Given the description of an element on the screen output the (x, y) to click on. 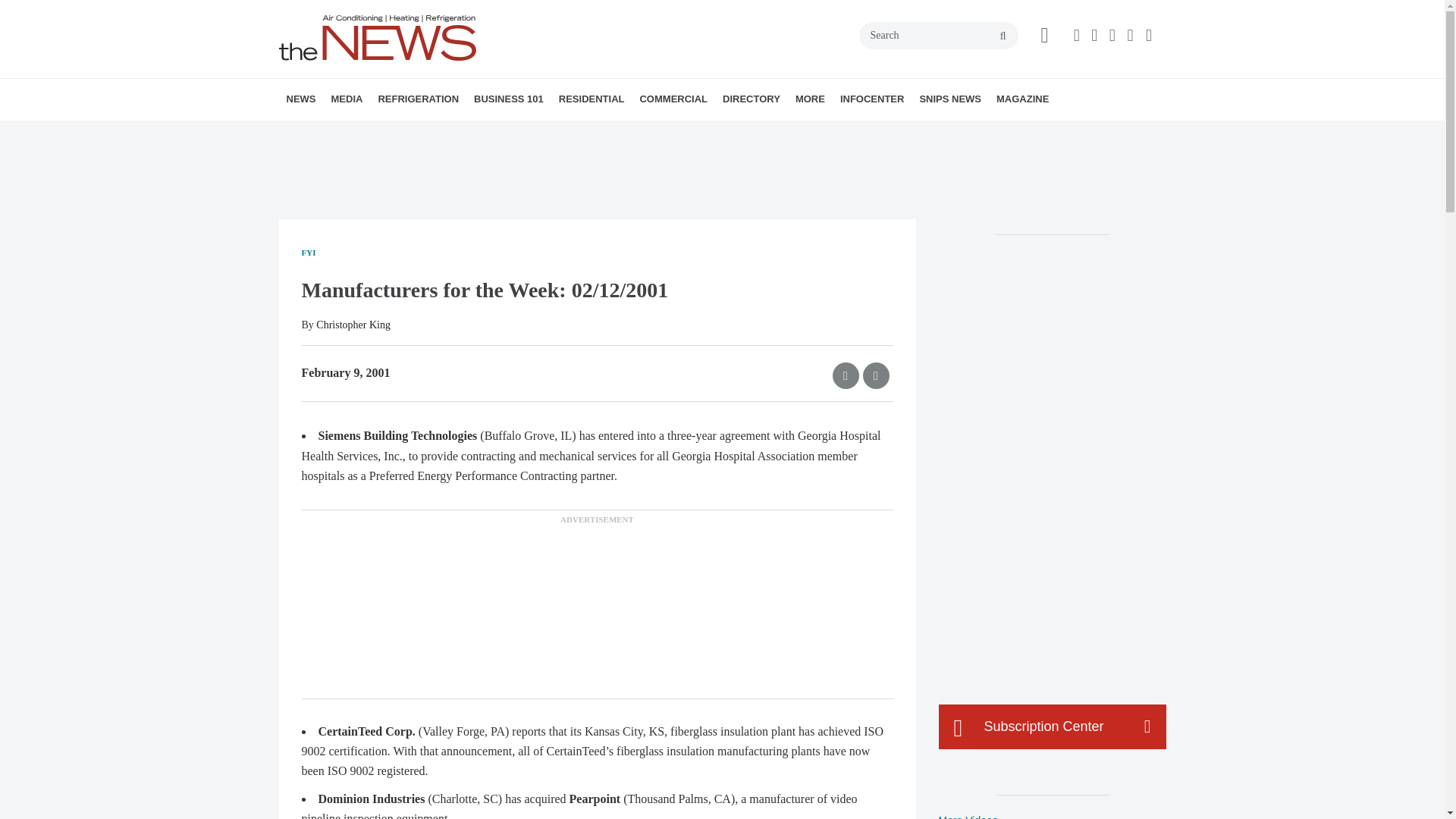
Search (938, 35)
Search (938, 35)
MEDIA (346, 98)
FROSTLINES (478, 132)
BREAKING NEWS (373, 132)
AHR EXPO 2024 VIDEOS (424, 132)
THE NEWS HVACR QUIZ (445, 132)
EBOOKS (442, 132)
REFRIGERANTS (464, 132)
ONLINE POLL (452, 132)
REFRIGERATION (417, 98)
REFRIGERANT REGULATIONS (472, 132)
HVAC DATA (391, 132)
search (1002, 36)
VIDEOS (417, 132)
